Given the description of an element on the screen output the (x, y) to click on. 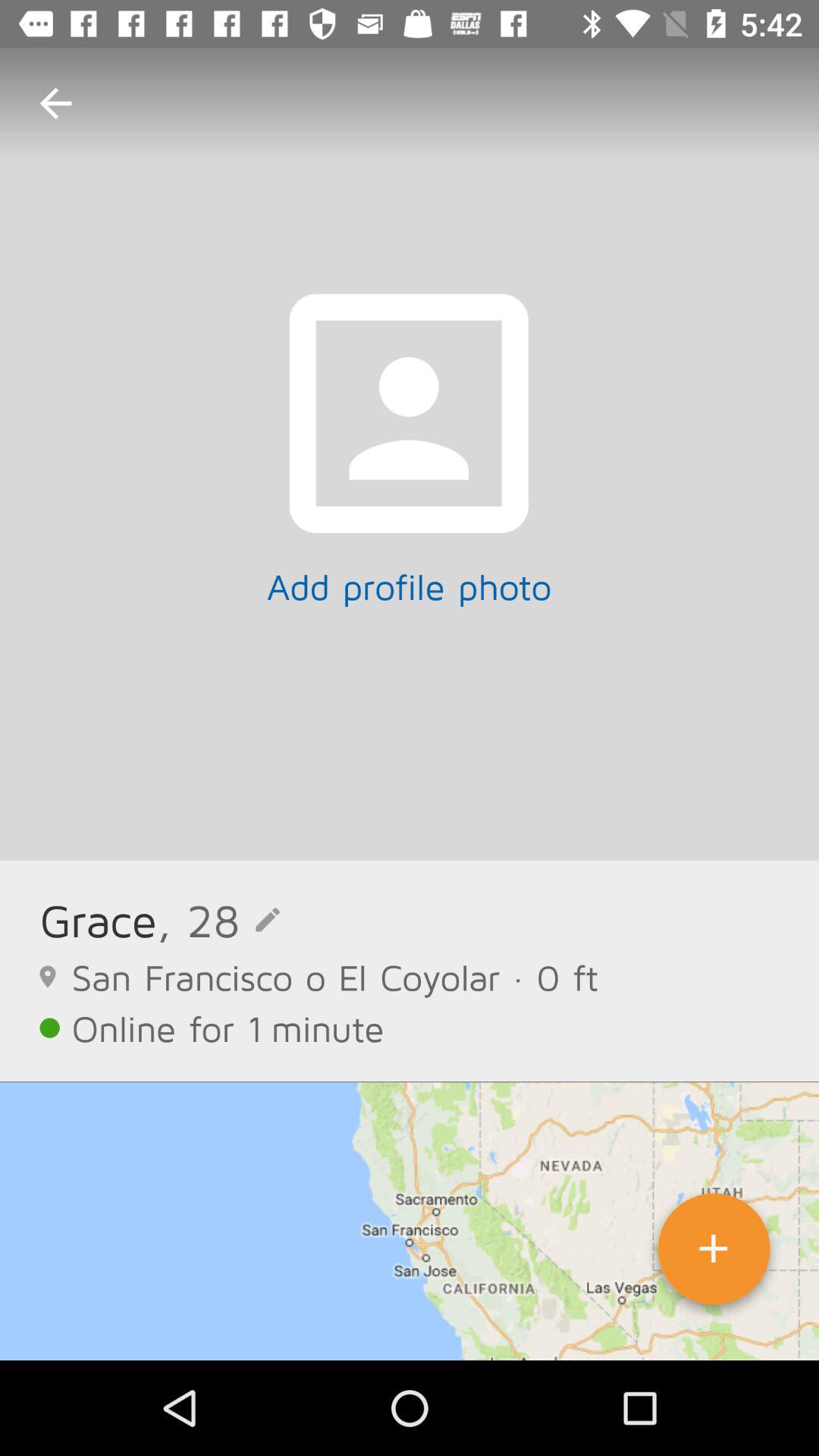
select icon above the san francisco o item (97, 919)
